Given the description of an element on the screen output the (x, y) to click on. 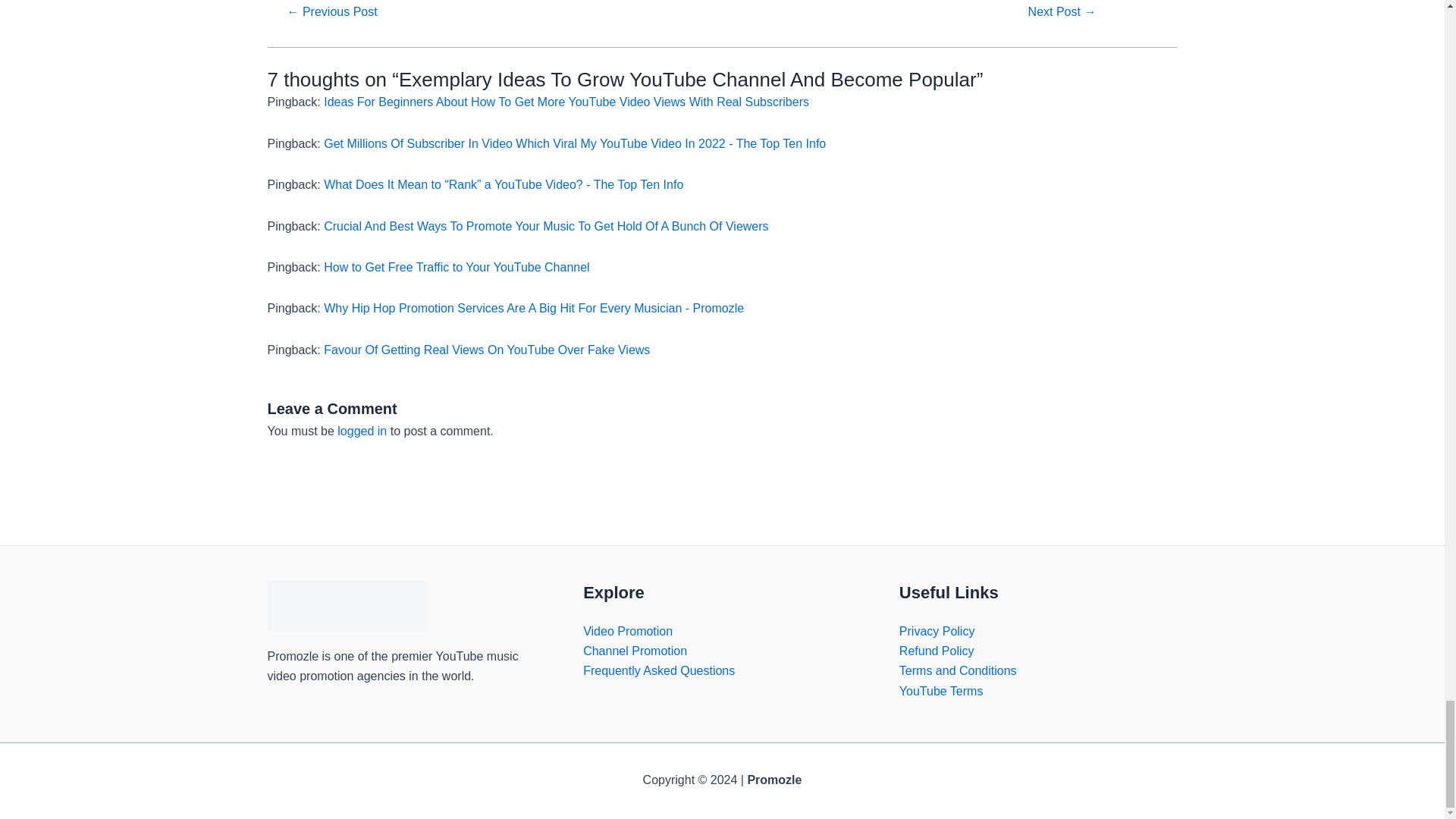
Reach Millions With The Advantage Of YouTube Video Promotion (1060, 11)
logged in (362, 431)
Favour Of Getting Real Views On YouTube Over Fake Views (486, 349)
Refund Policy (936, 650)
Privacy Policy (937, 631)
Channel Promotion (635, 650)
The Undiscovered Ways To Promote YouTube Video For Real Fans (330, 11)
How to Get Free Traffic to Your YouTube Channel (456, 267)
Terms and Conditions (957, 670)
Video Promotion (627, 631)
Frequently Asked Questions (659, 670)
